Given the description of an element on the screen output the (x, y) to click on. 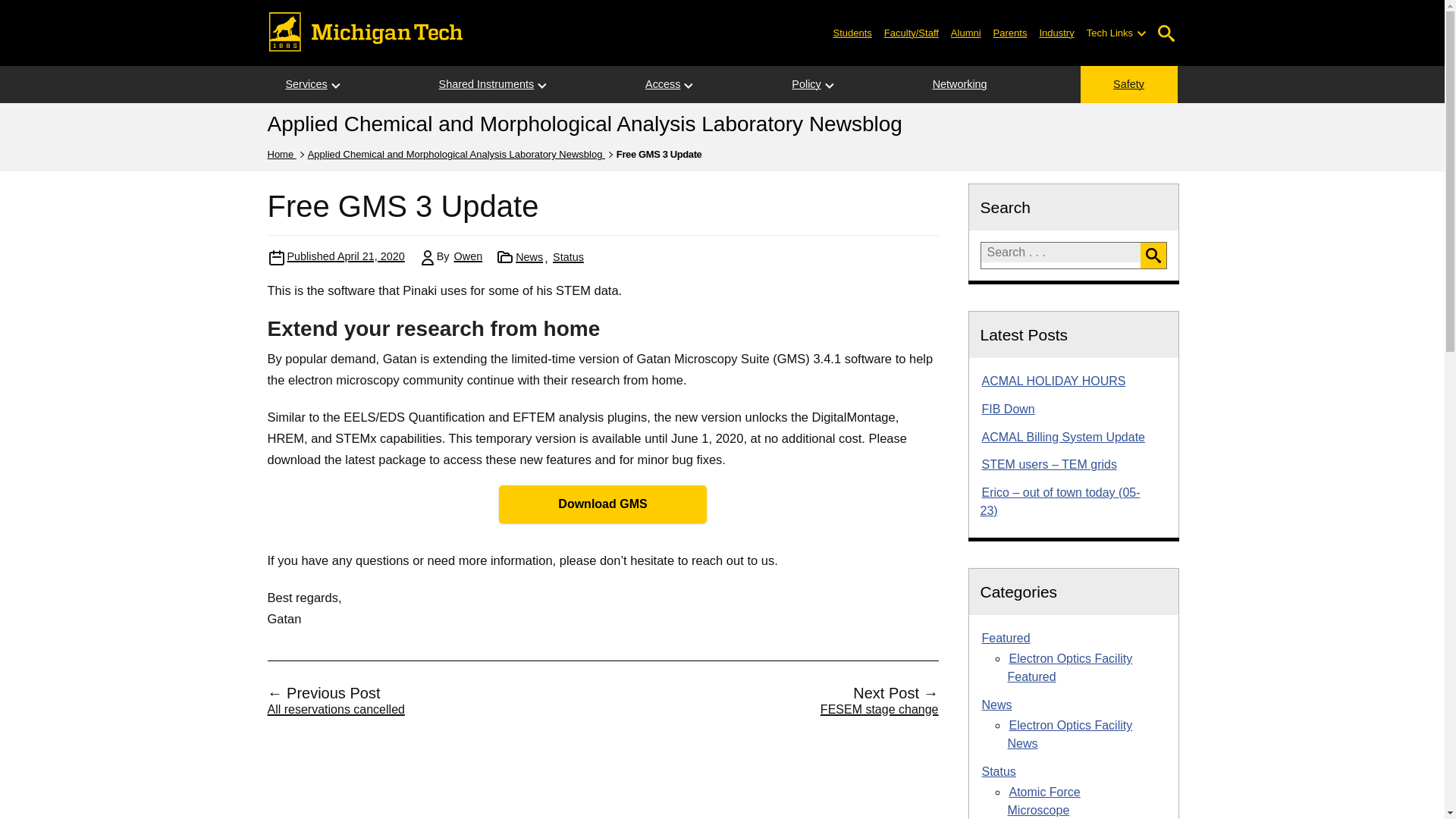
Parents (1010, 32)
Alumni (965, 32)
Industry (1056, 32)
Students (852, 32)
Access (662, 84)
Open Search (1166, 33)
Services (305, 84)
Shared Instruments (486, 84)
